Given the description of an element on the screen output the (x, y) to click on. 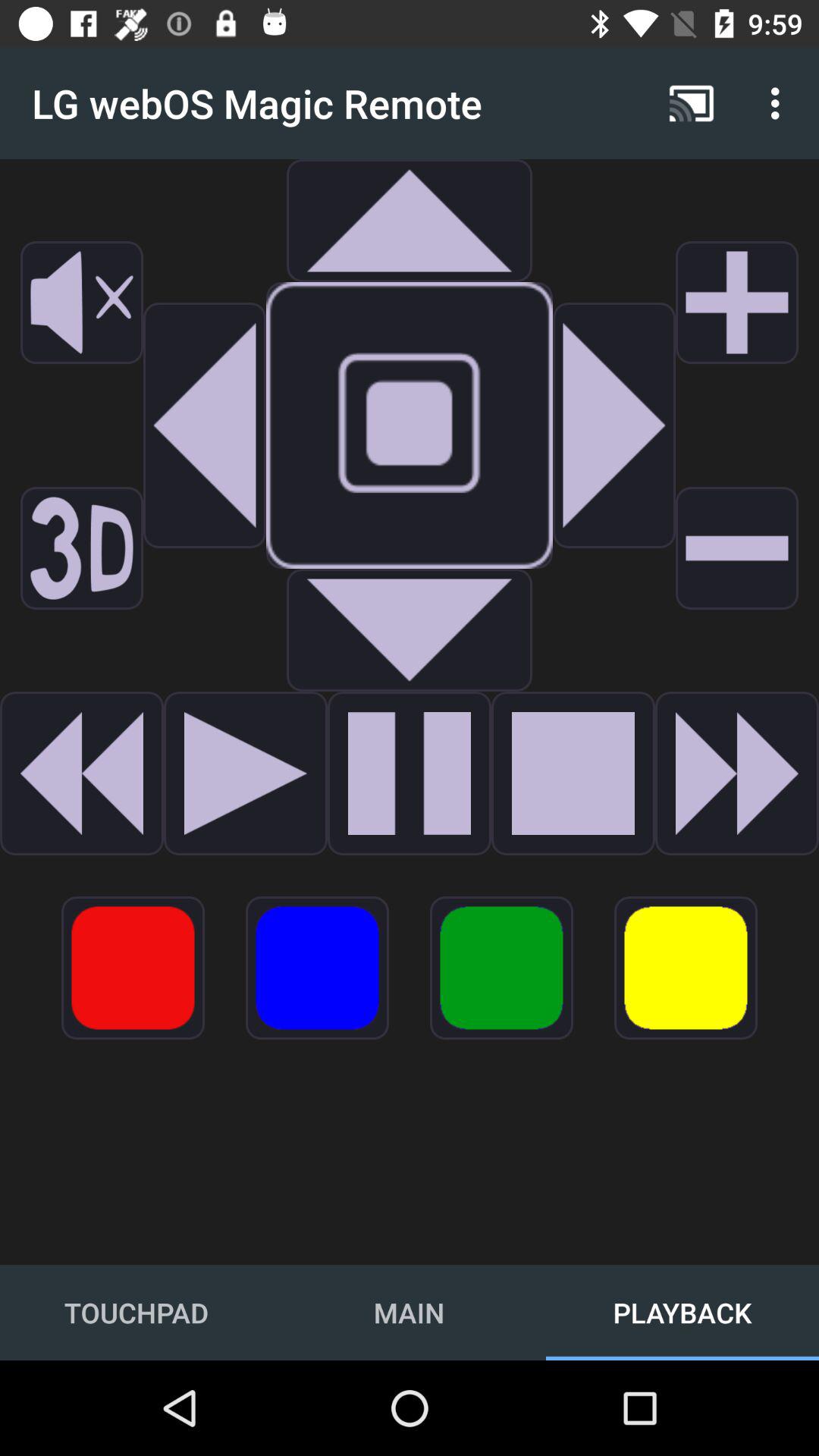
launch the item above main item (501, 967)
